Given the description of an element on the screen output the (x, y) to click on. 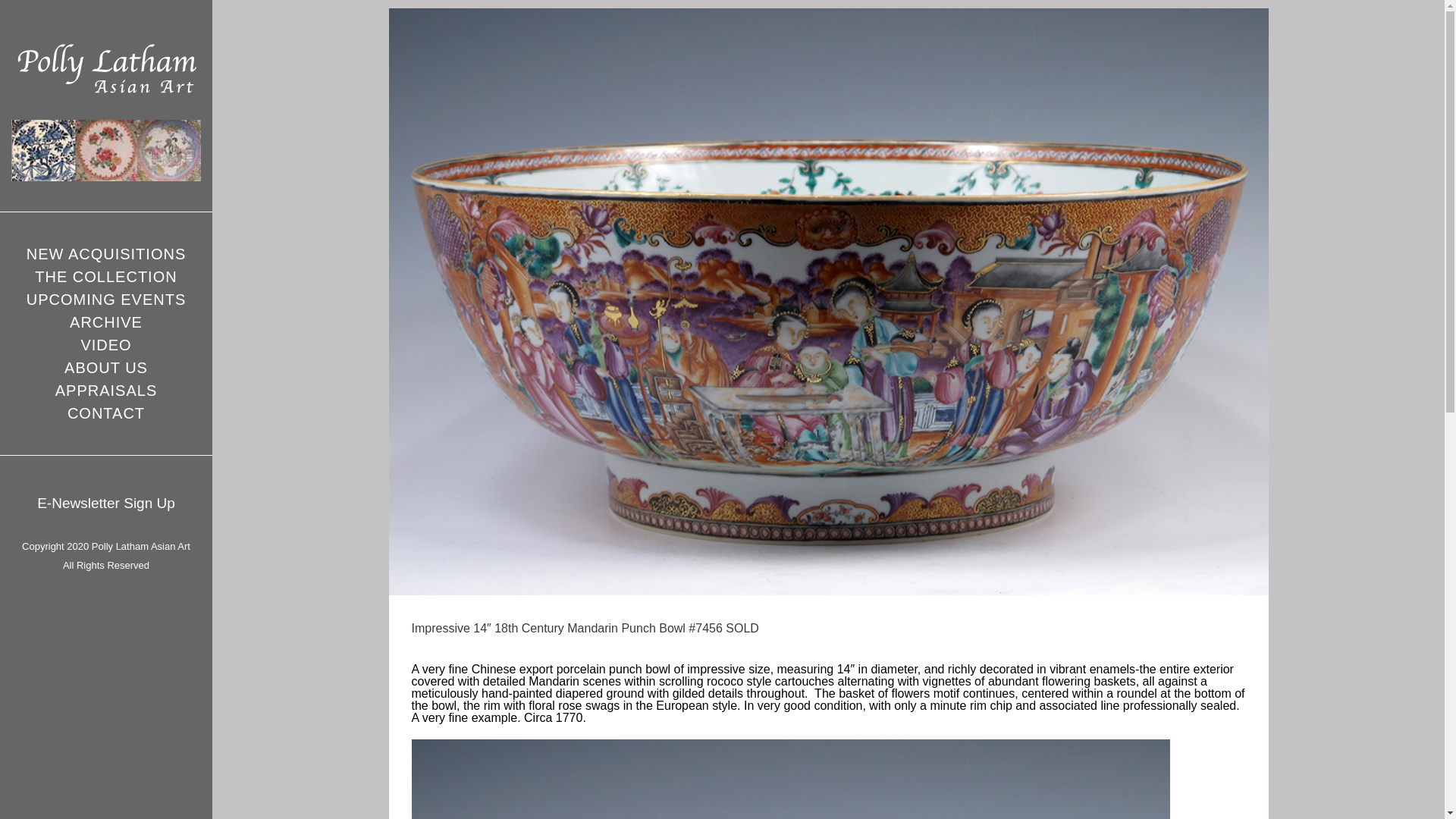
CONTACT (105, 413)
E-Newsletter Sign Up (105, 503)
UPCOMING EVENTS (106, 299)
ABOUT US (106, 367)
APPRAISALS (106, 390)
ARCHIVE (105, 322)
VIDEO (105, 344)
NEW ACQUISITIONS (106, 253)
THE COLLECTION (105, 276)
